Given the description of an element on the screen output the (x, y) to click on. 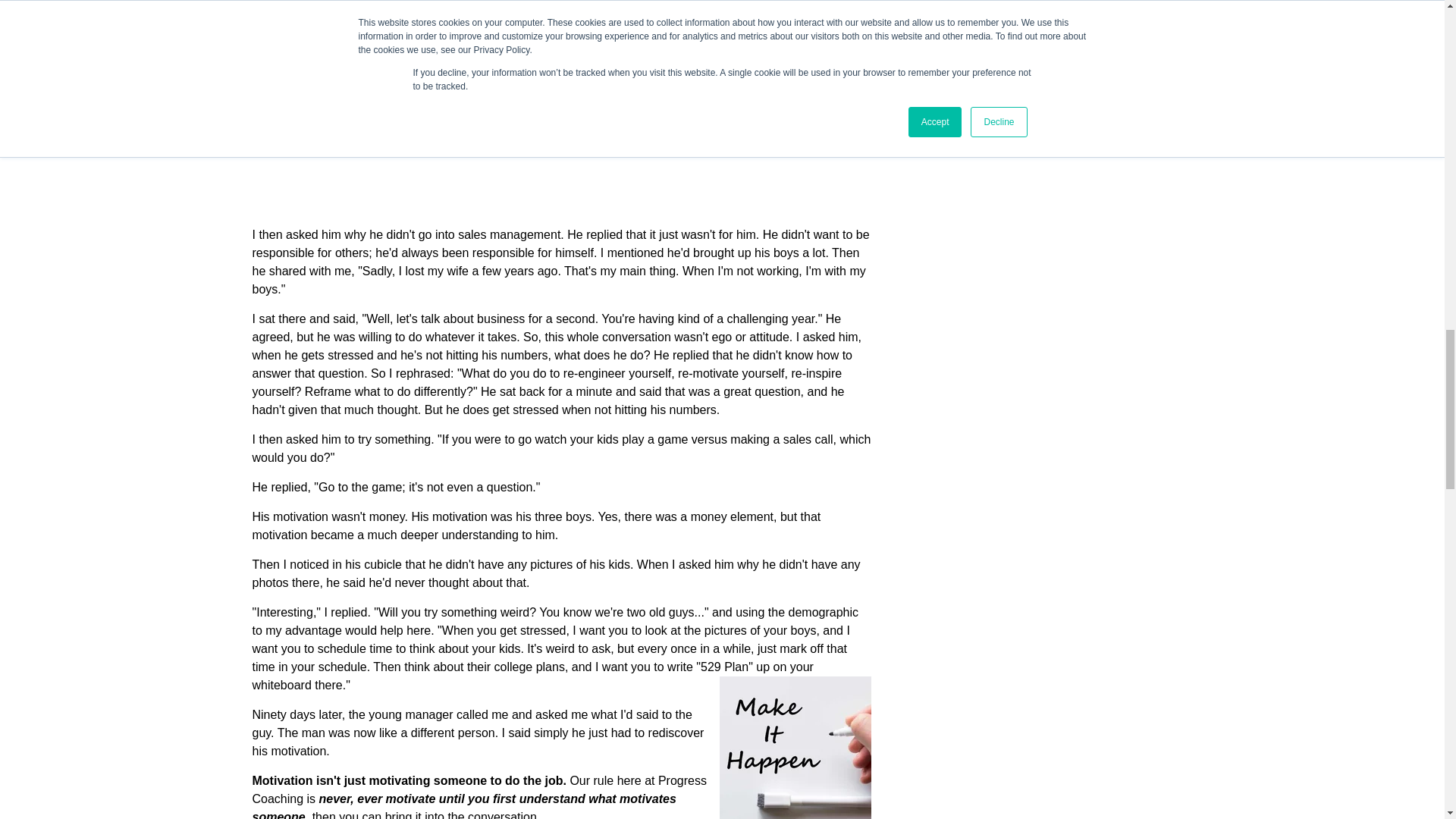
YouTube video player (561, 107)
